Given the description of an element on the screen output the (x, y) to click on. 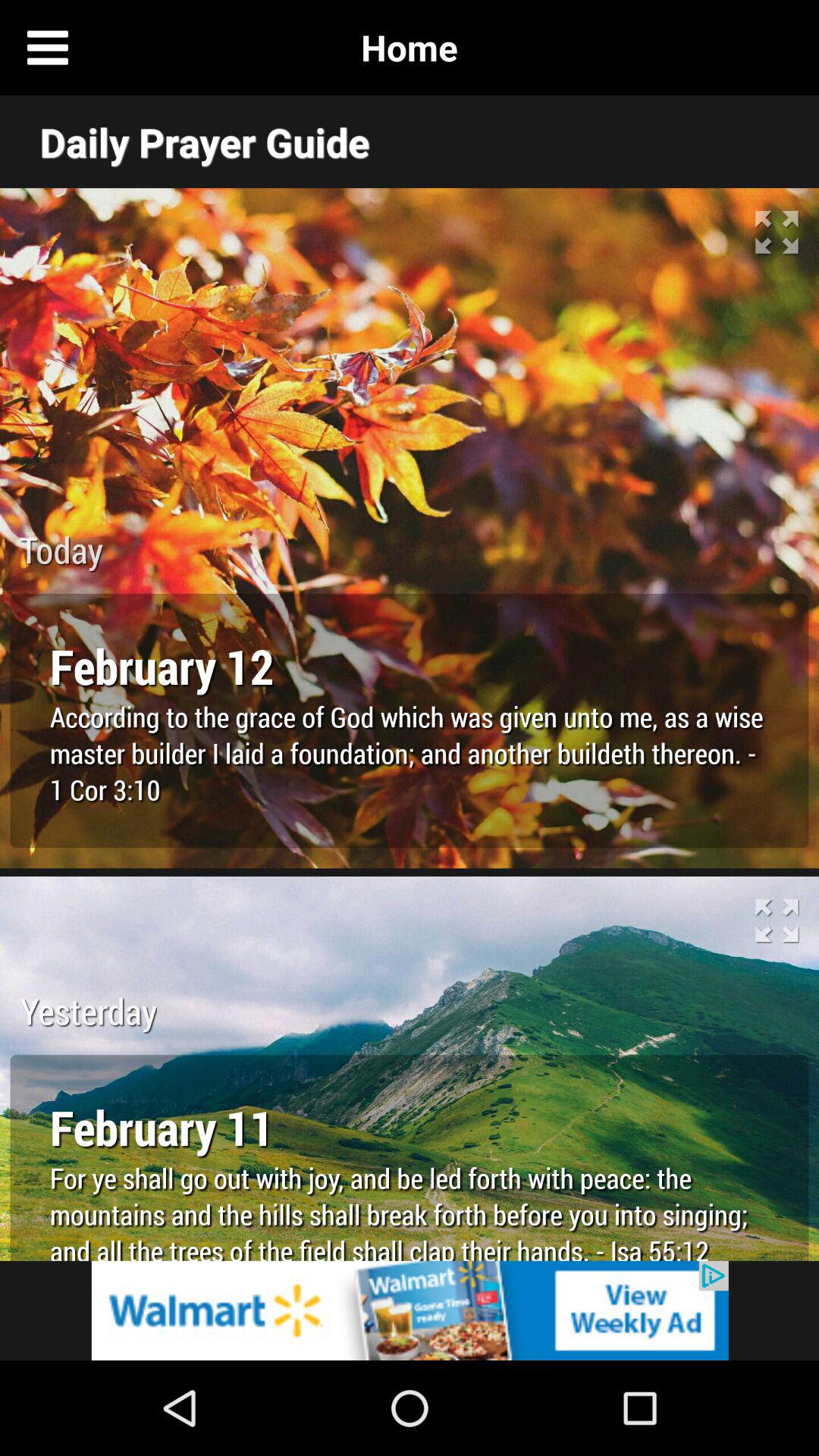
select february 12 (409, 665)
select the text below yesterday (409, 1126)
select the text below february 11 (409, 1209)
click on the maximize icon of the first image (776, 232)
